Given the description of an element on the screen output the (x, y) to click on. 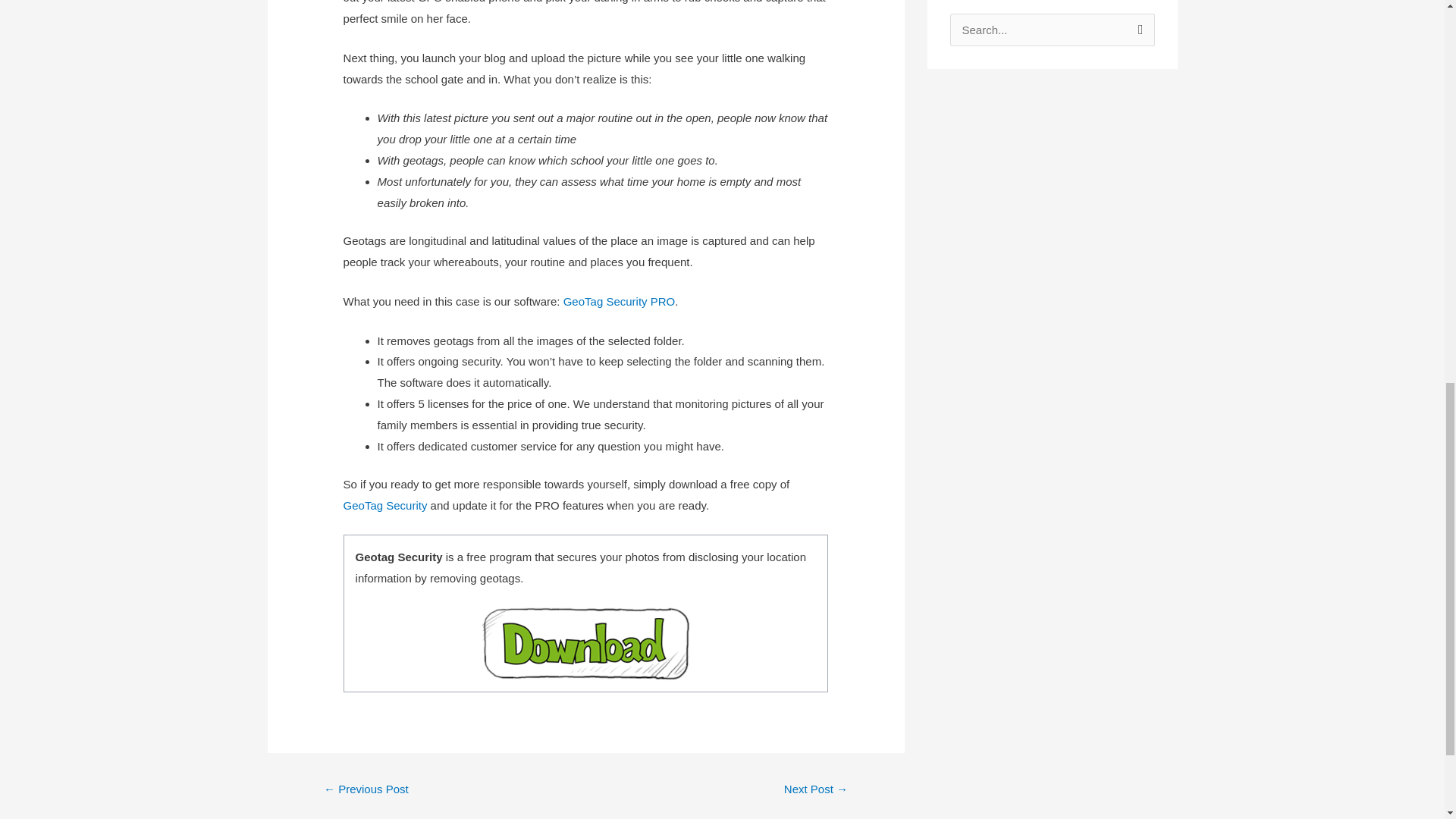
Are You a Happy feet and an Instant Blogger? (365, 790)
GeoTag Security (385, 504)
GeoTag Security PRO (619, 300)
We know What You Did Last Summer? (815, 790)
